Given the description of an element on the screen output the (x, y) to click on. 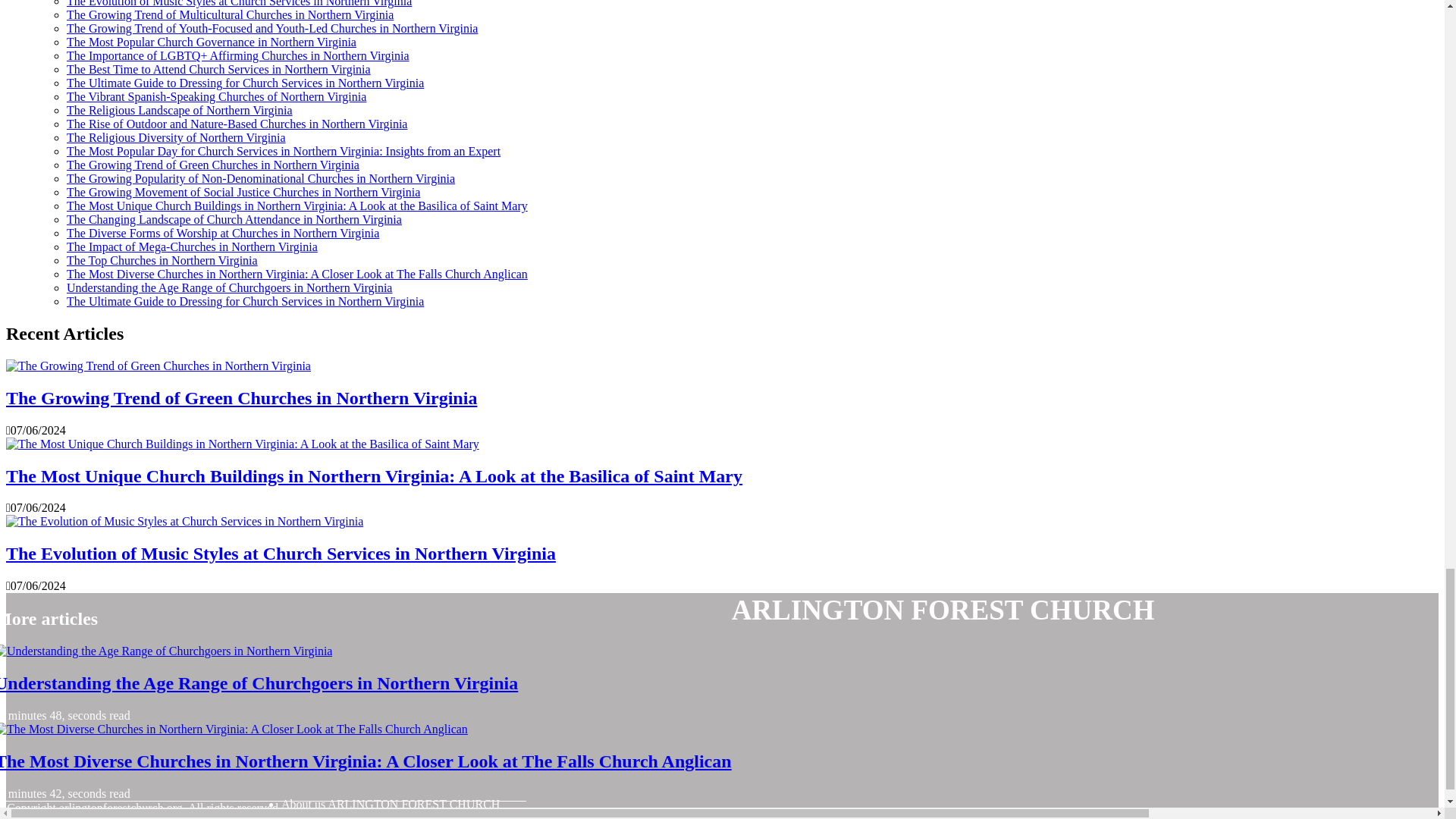
The Religious Landscape of Northern Virginia (179, 110)
The Best Time to Attend Church Services in Northern Virginia (218, 69)
The Vibrant Spanish-Speaking Churches of Northern Virginia (216, 96)
The Religious Diversity of Northern Virginia (175, 137)
The Most Popular Church Governance in Northern Virginia (211, 42)
